Given the description of an element on the screen output the (x, y) to click on. 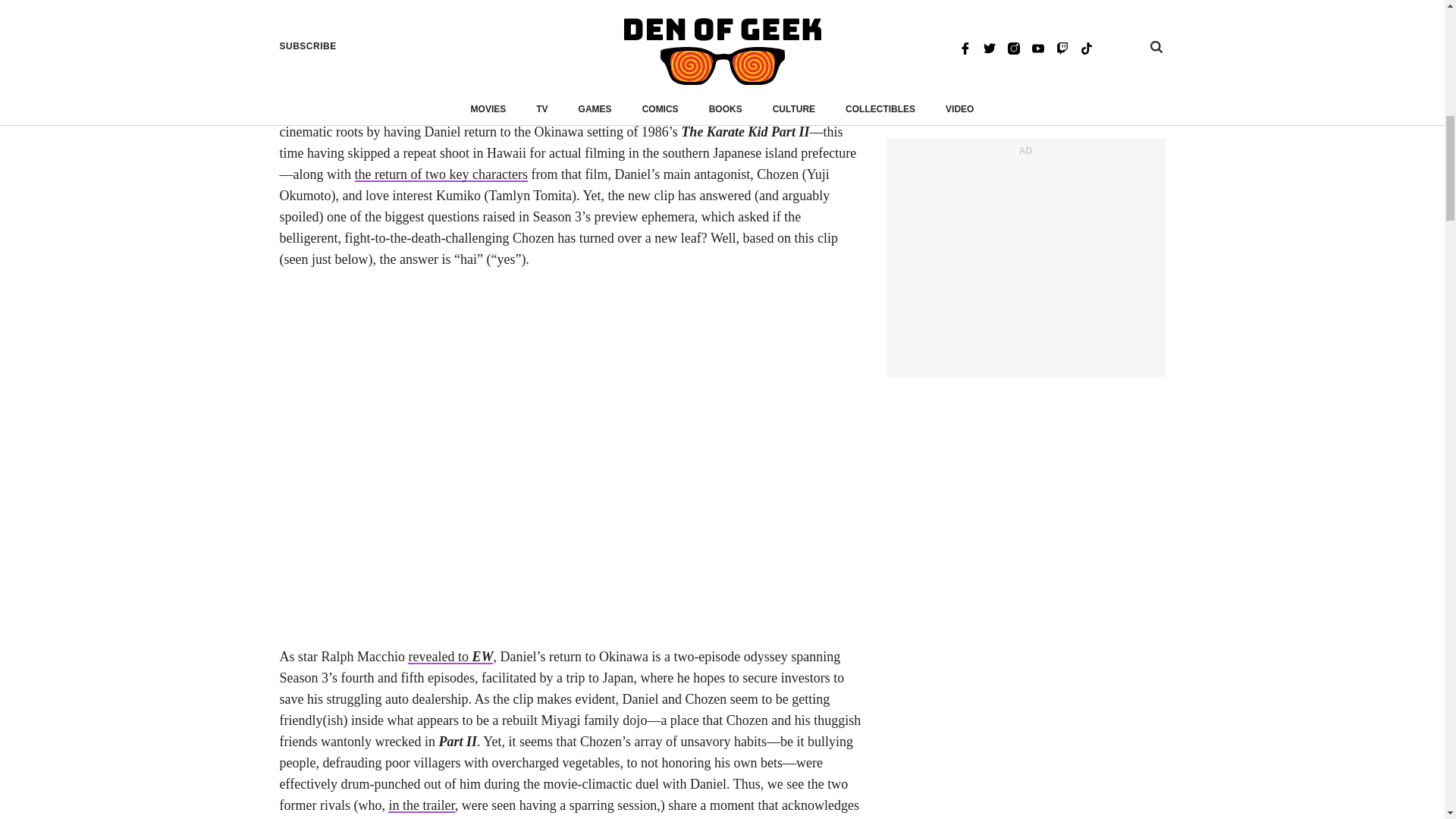
in the trailer (421, 805)
one of the previous clips (361, 43)
the return of two key characters (441, 174)
namely new footage (480, 22)
revealed to EW (450, 656)
Cobra Kai (517, 110)
